Given the description of an element on the screen output the (x, y) to click on. 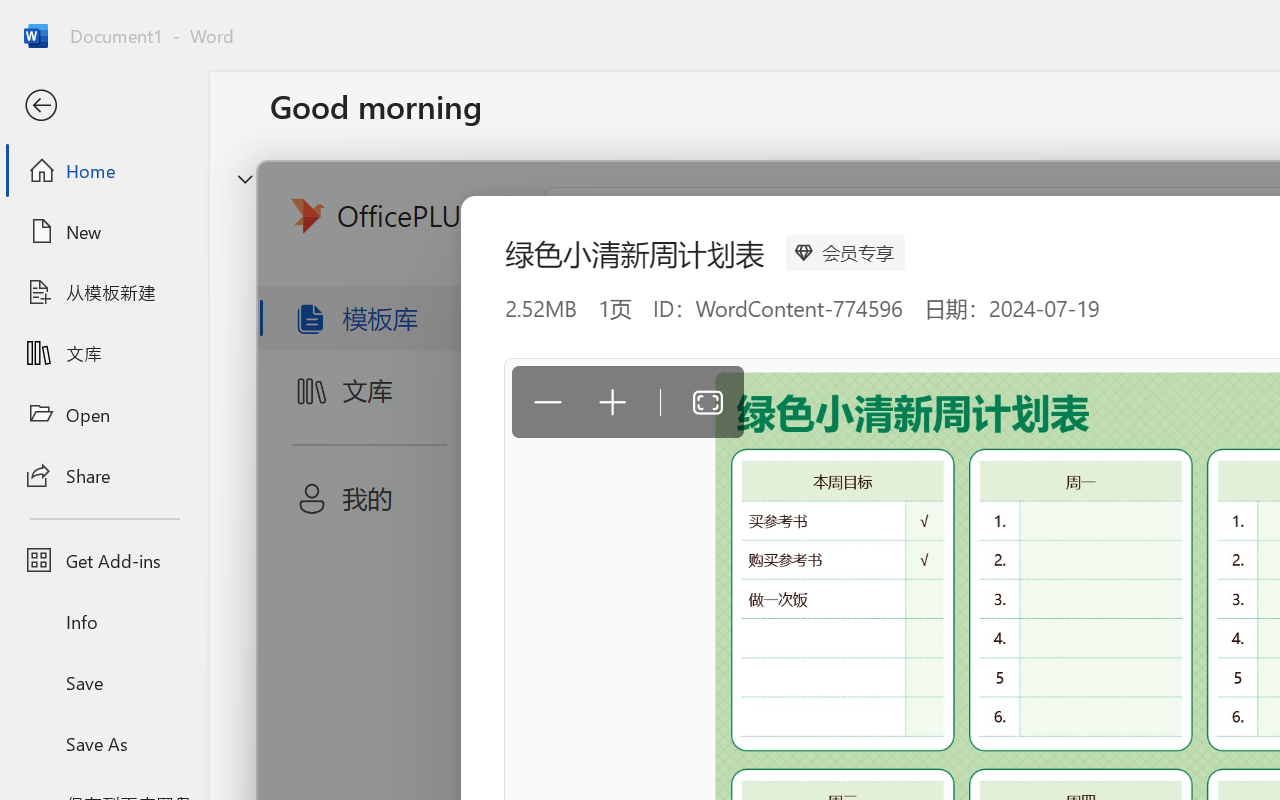
Save As (104, 743)
Get Add-ins (104, 560)
Back (104, 106)
Info (104, 621)
New (104, 231)
